Given the description of an element on the screen output the (x, y) to click on. 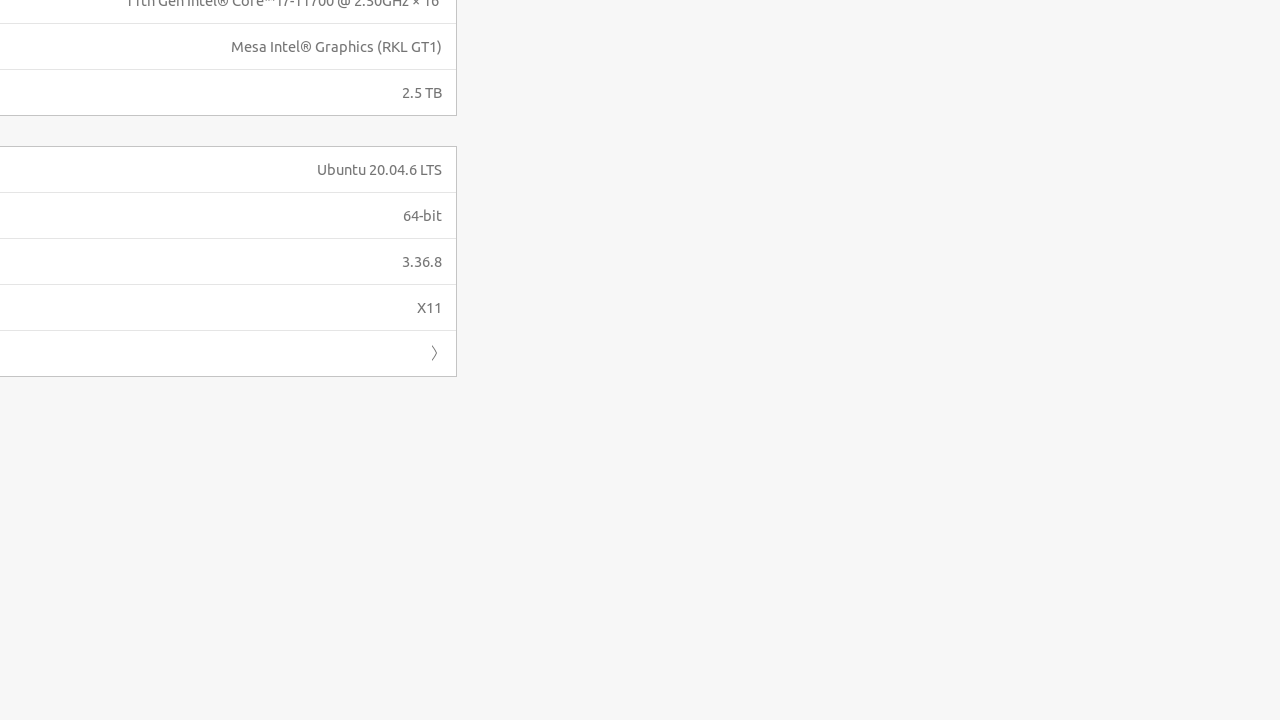
64-bit Element type: label (422, 215)
X11 Element type: label (429, 307)
